Given the description of an element on the screen output the (x, y) to click on. 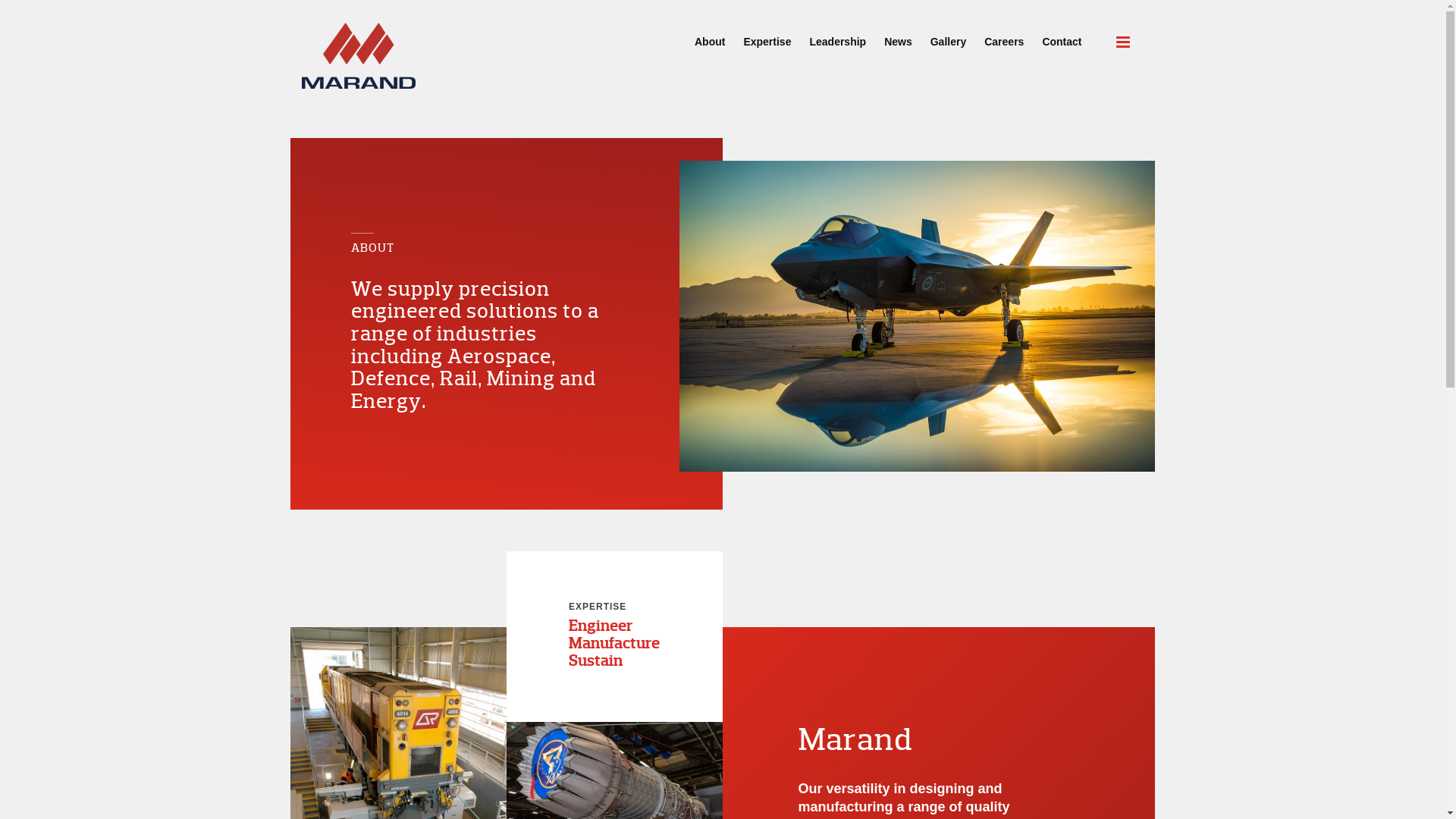
Contact Element type: text (1061, 34)
Expertise Element type: text (767, 34)
About Element type: text (709, 34)
Sustain Element type: text (595, 660)
Engineer Element type: text (600, 625)
Leadership Element type: text (837, 34)
Home Element type: hover (358, 55)
Careers Element type: text (1003, 34)
Gallery Element type: text (948, 34)
Manufacture Element type: text (613, 642)
News Element type: text (898, 34)
